Given the description of an element on the screen output the (x, y) to click on. 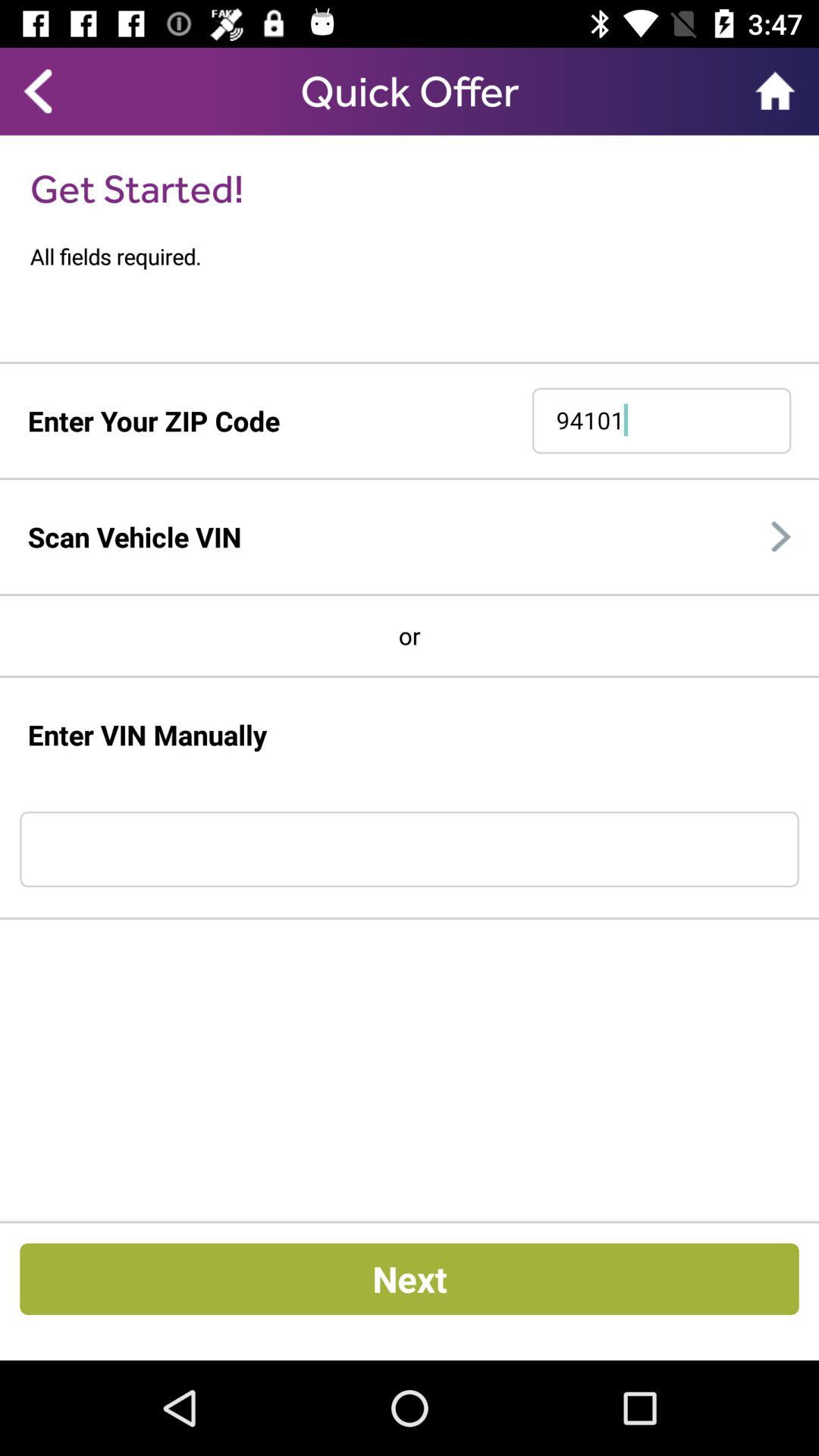
open item above enter vin manually item (409, 676)
